Given the description of an element on the screen output the (x, y) to click on. 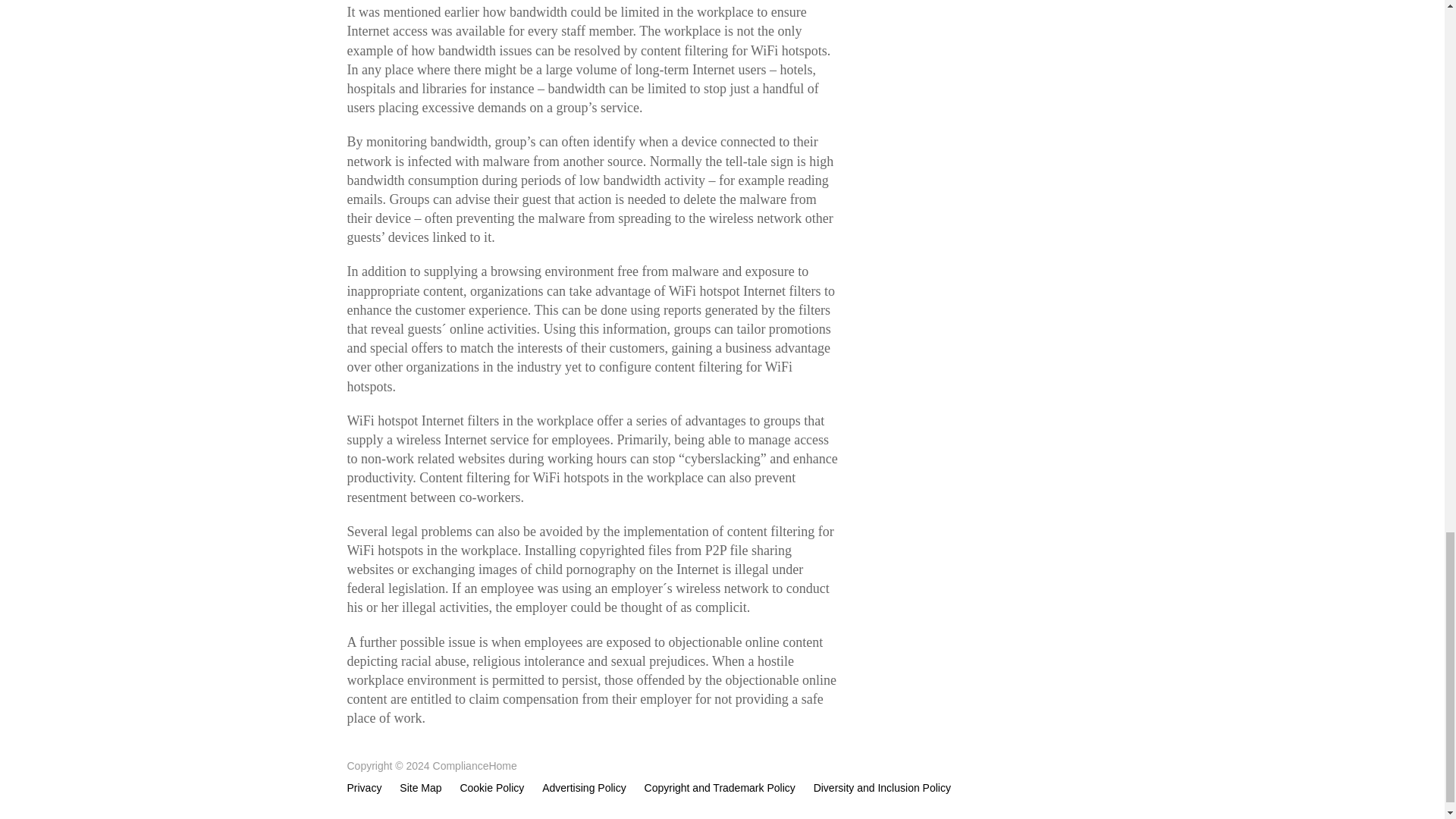
Advertising Policy (583, 788)
Diversity and Inclusion Policy (882, 788)
Cookie Policy (491, 788)
Copyright and Trademark Policy (720, 788)
Site Map (419, 788)
Privacy (368, 788)
